Given the description of an element on the screen output the (x, y) to click on. 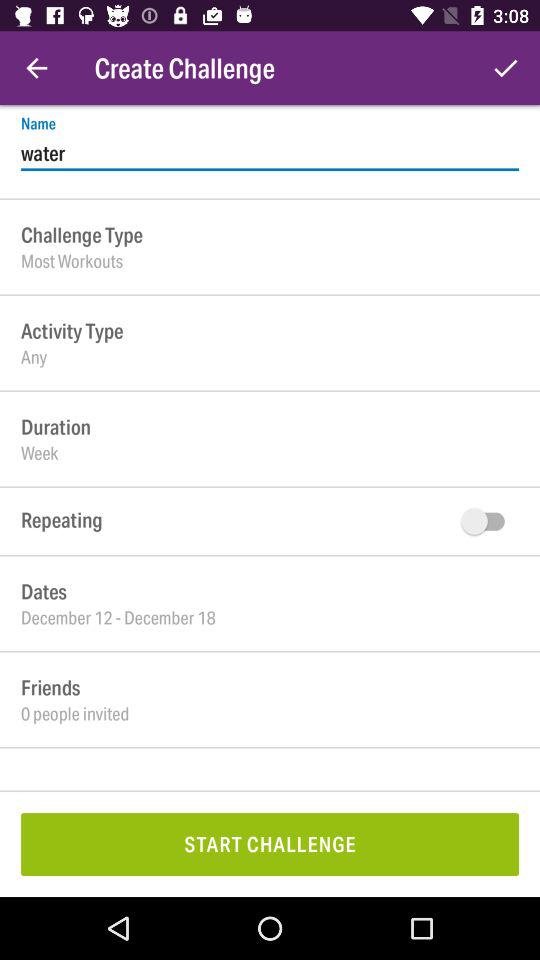
turn on repeat (487, 521)
